Given the description of an element on the screen output the (x, y) to click on. 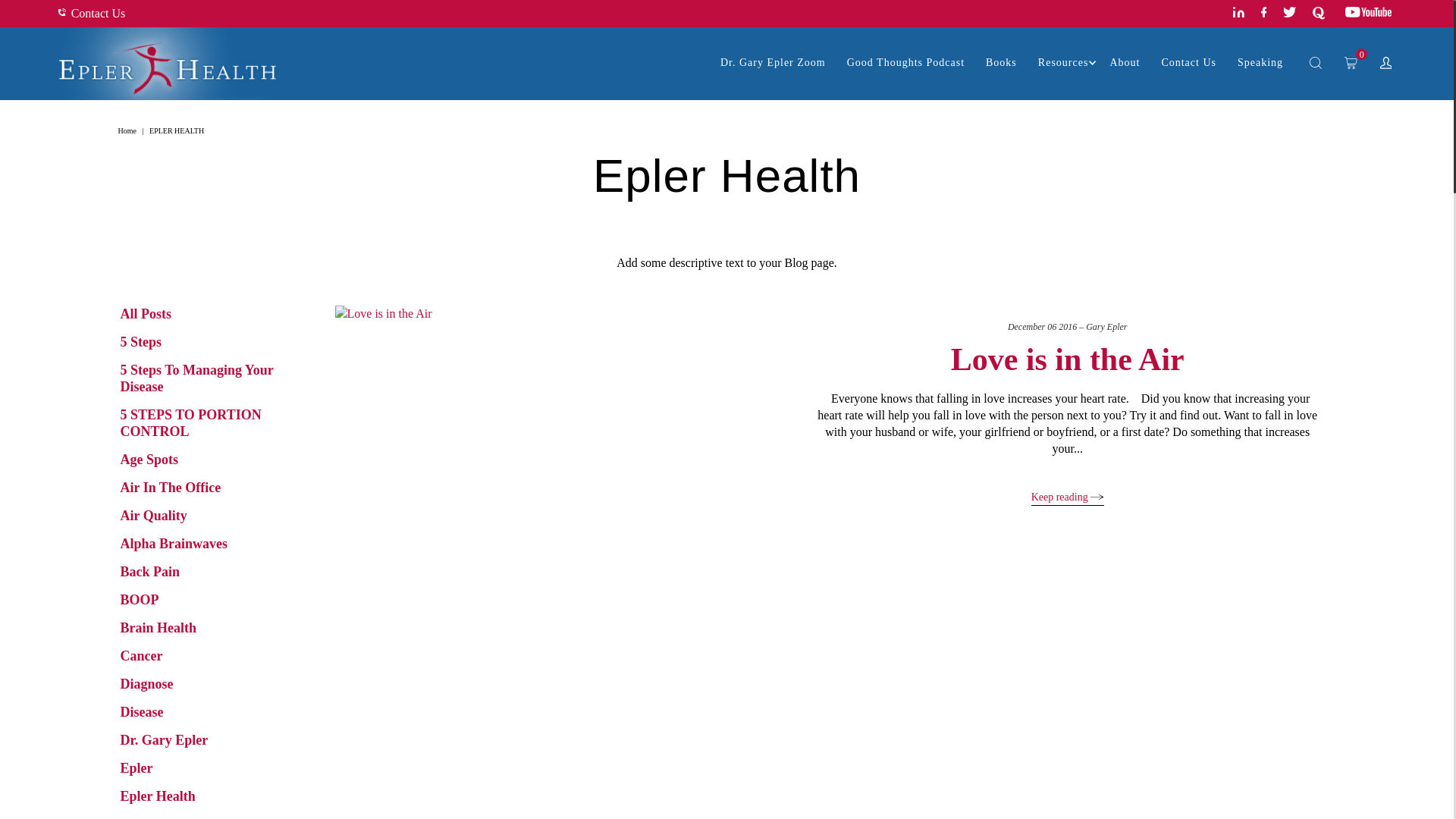
Home (128, 130)
Contact Us (1188, 62)
About (1124, 62)
Home (128, 130)
All Posts (145, 313)
Speaking (1255, 62)
Contact Us (91, 12)
Resources (1063, 62)
Books (1001, 62)
Good Thoughts Podcast (906, 62)
Dr. Gary Epler Zoom (772, 62)
